Given the description of an element on the screen output the (x, y) to click on. 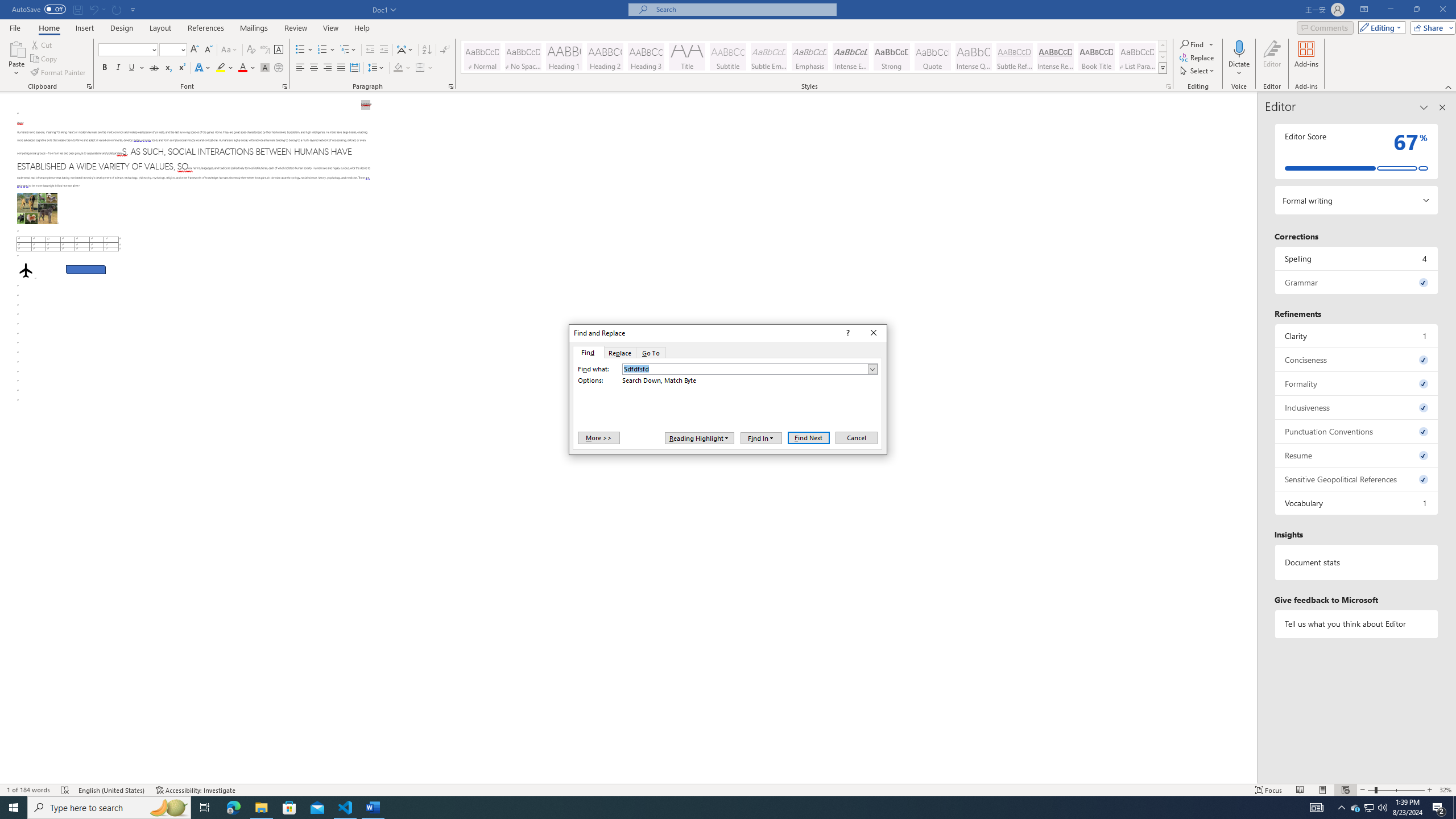
Emphasis (809, 56)
Q2790: 100% (1382, 807)
Subtitle (727, 56)
User Promoted Notification Area (1368, 807)
Airplane with solid fill (25, 270)
Undo Paragraph Alignment (96, 9)
Intense Reference (1055, 56)
